Given the description of an element on the screen output the (x, y) to click on. 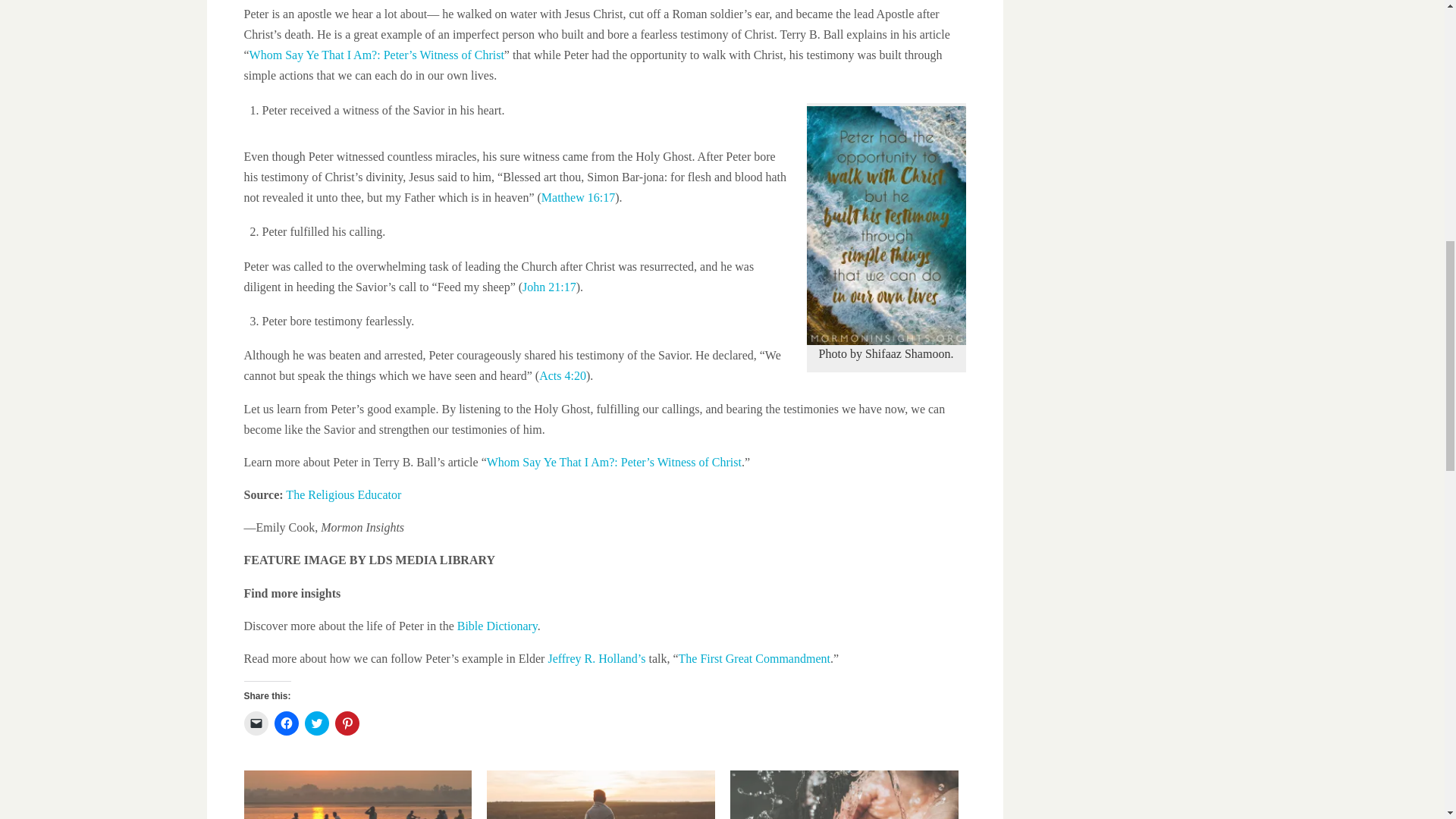
Acts 4:20 (562, 375)
Click to share on Facebook (286, 723)
John 21:17 (549, 286)
Matthew 16:17 (577, 196)
Weaving Discipleship into Our Spiritual Tapestry (600, 794)
The First Great Commandment (753, 658)
Click to share on Twitter (316, 723)
Click to email a link to a friend (255, 723)
The Religious Educator (343, 494)
Bible Dictionary (497, 625)
Click to share on Pinterest (346, 723)
